Given the description of an element on the screen output the (x, y) to click on. 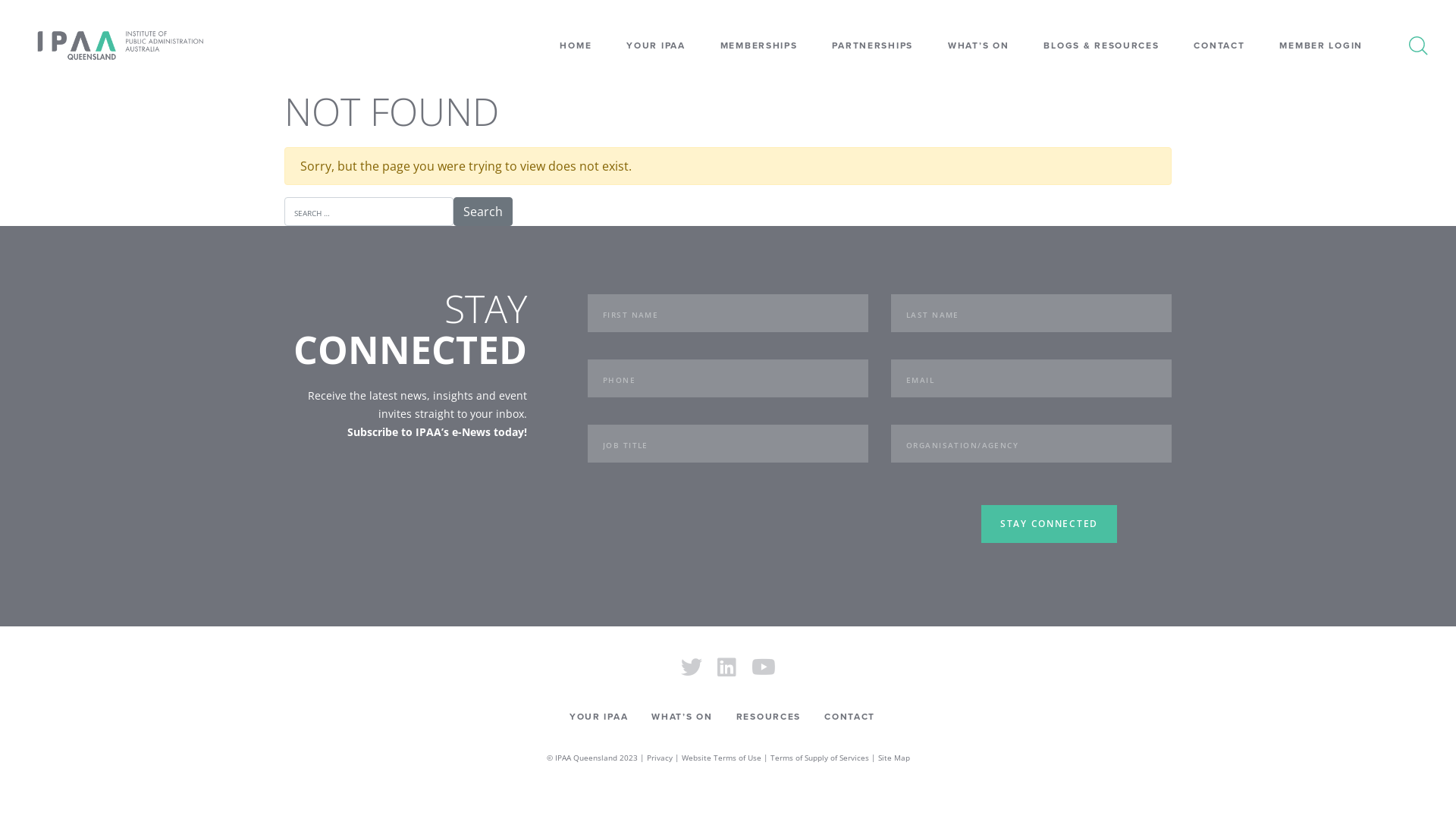
Website Terms of Use Element type: text (720, 757)
Stay Connected Element type: text (1049, 523)
Site Map Element type: text (894, 757)
RESOURCES Element type: text (768, 716)
MEMBER LOGIN Element type: text (1320, 45)
PARTNERSHIPS Element type: text (872, 45)
Terms of Supply of Services Element type: text (819, 757)
HOME Element type: text (575, 45)
Privacy Element type: text (658, 757)
Search Element type: text (482, 211)
BLOGS & RESOURCES Element type: text (1100, 45)
CONTACT Element type: text (1218, 45)
YOUR IPAA Element type: text (655, 45)
YOUR IPAA Element type: text (598, 716)
CONTACT Element type: text (849, 716)
MEMBERSHIPS Element type: text (758, 45)
